Given the description of an element on the screen output the (x, y) to click on. 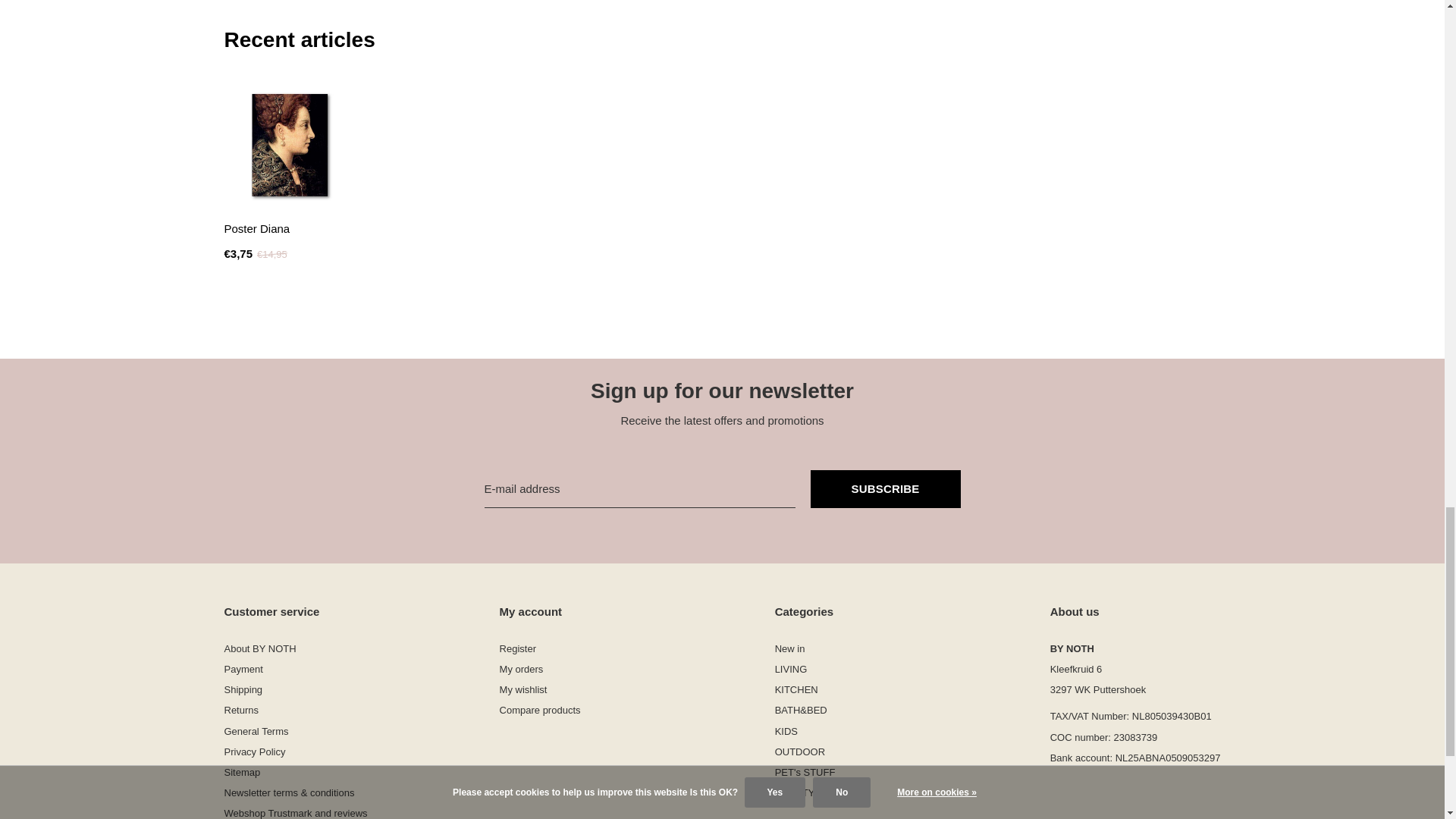
Register (517, 648)
My orders (521, 668)
My wishlist (523, 689)
